Given the description of an element on the screen output the (x, y) to click on. 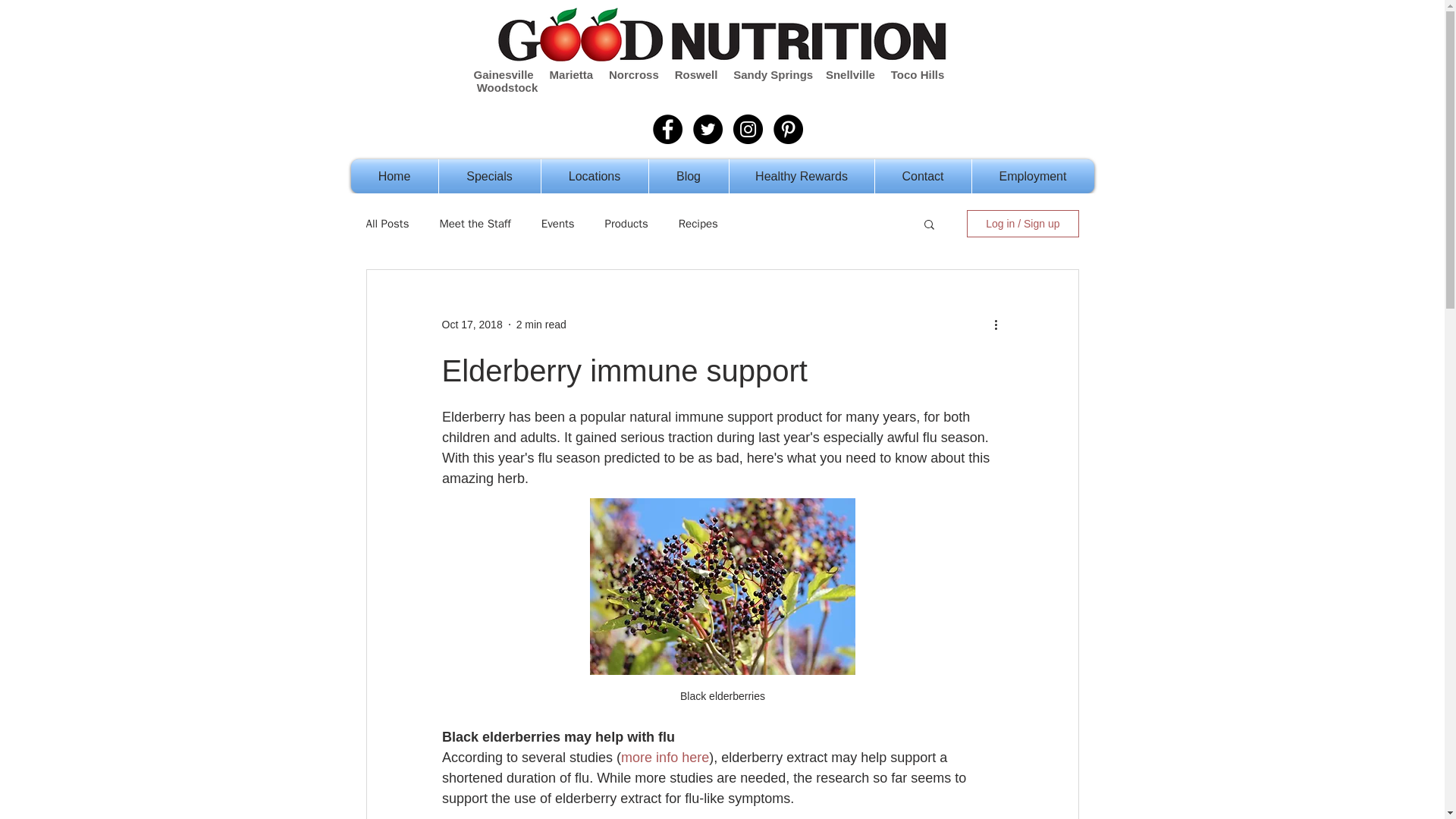
Products (626, 223)
Events (558, 223)
Employment (1033, 175)
Woodstock (507, 87)
Meet the Staff (475, 223)
Home (394, 175)
2 min read (541, 324)
Specials (489, 175)
Snellville (850, 74)
Marietta (572, 74)
Roswell (696, 74)
Recipes (697, 223)
Healthy Rewards (802, 175)
Blog (689, 175)
All Posts (387, 223)
